Given the description of an element on the screen output the (x, y) to click on. 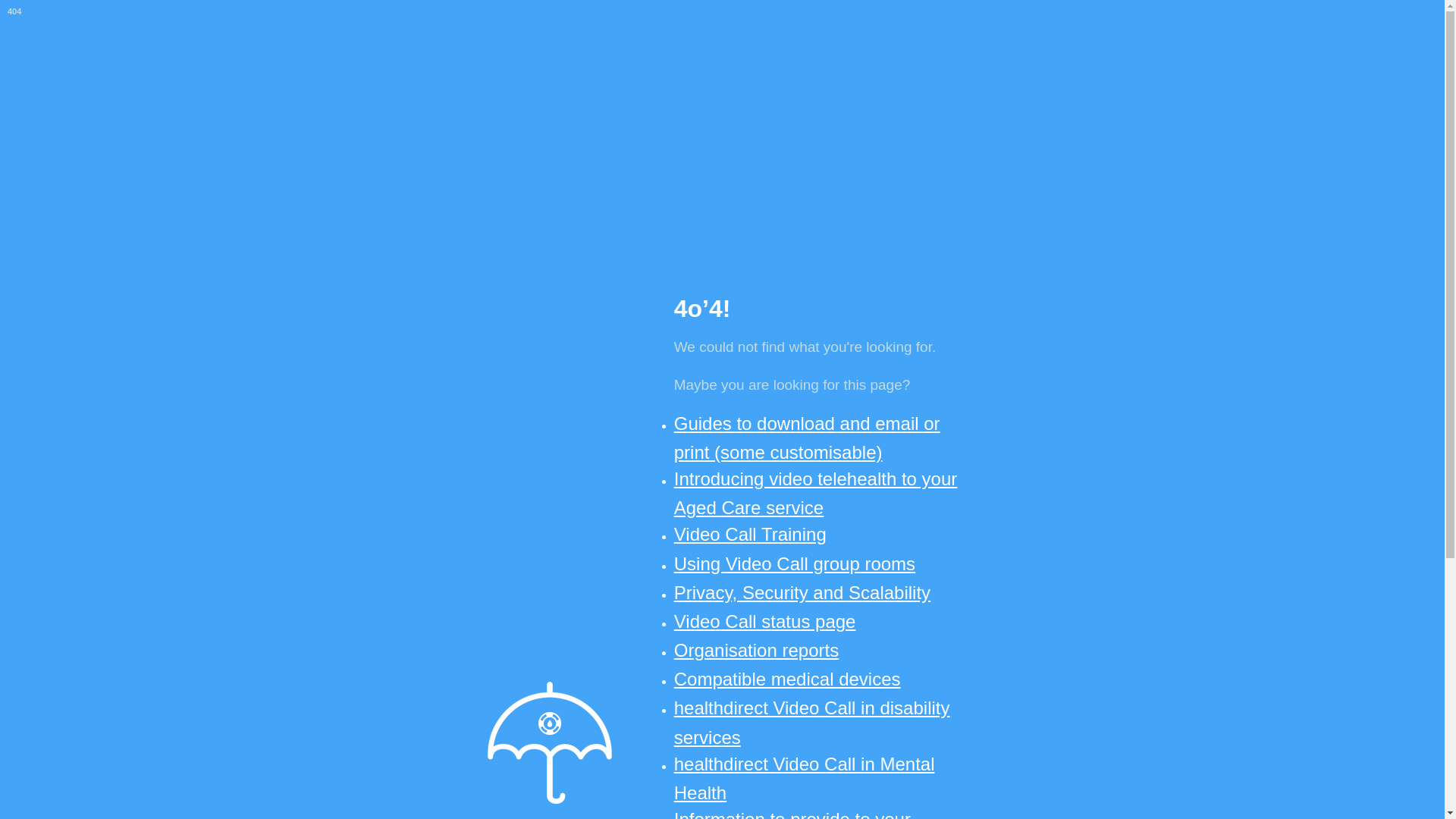
Video Call status page Element type: text (765, 621)
Video Call Training Element type: text (750, 534)
healthdirect Video Call in Mental Health Element type: text (804, 778)
Compatible medical devices Element type: text (787, 678)
Privacy, Security and Scalability Element type: text (802, 592)
Organisation reports Element type: text (756, 650)
Guides to download and email or print (some customisable) Element type: text (807, 437)
Using Video Call group rooms Element type: text (794, 563)
healthdirect Video Call in disability services Element type: text (812, 721)
Introducing video telehealth to your Aged Care service Element type: text (815, 492)
